Given the description of an element on the screen output the (x, y) to click on. 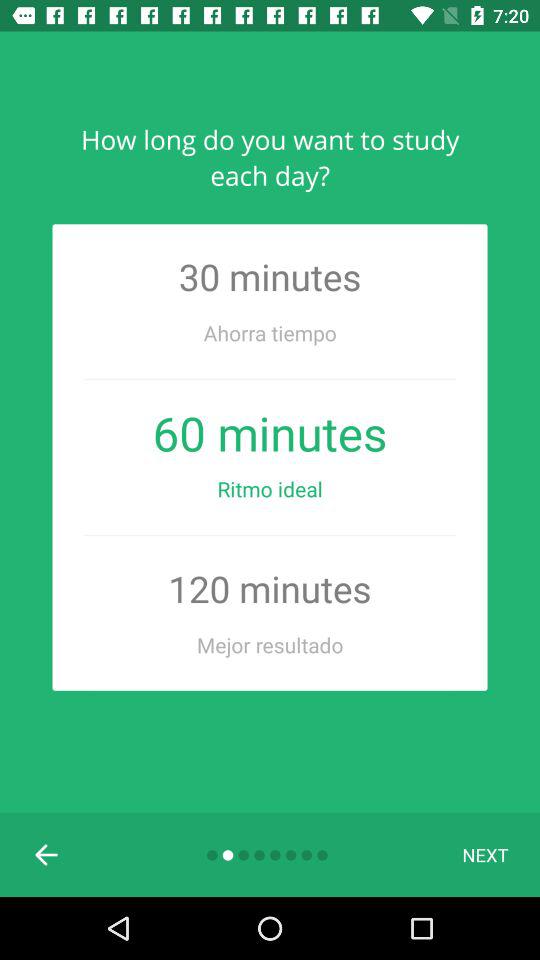
turn on icon at the bottom left corner (47, 854)
